Given the description of an element on the screen output the (x, y) to click on. 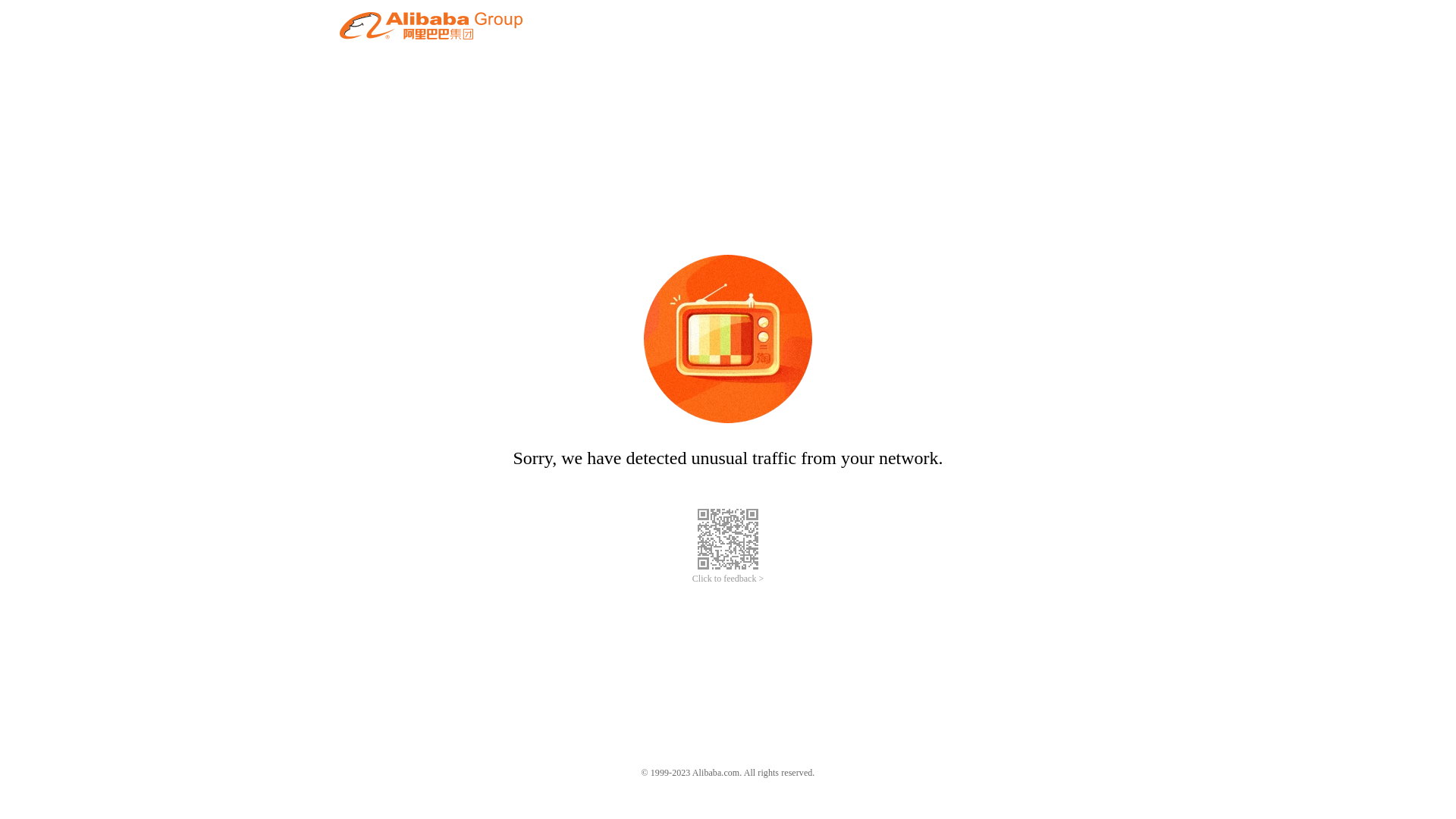
Click to feedback > Element type: text (727, 578)
